Given the description of an element on the screen output the (x, y) to click on. 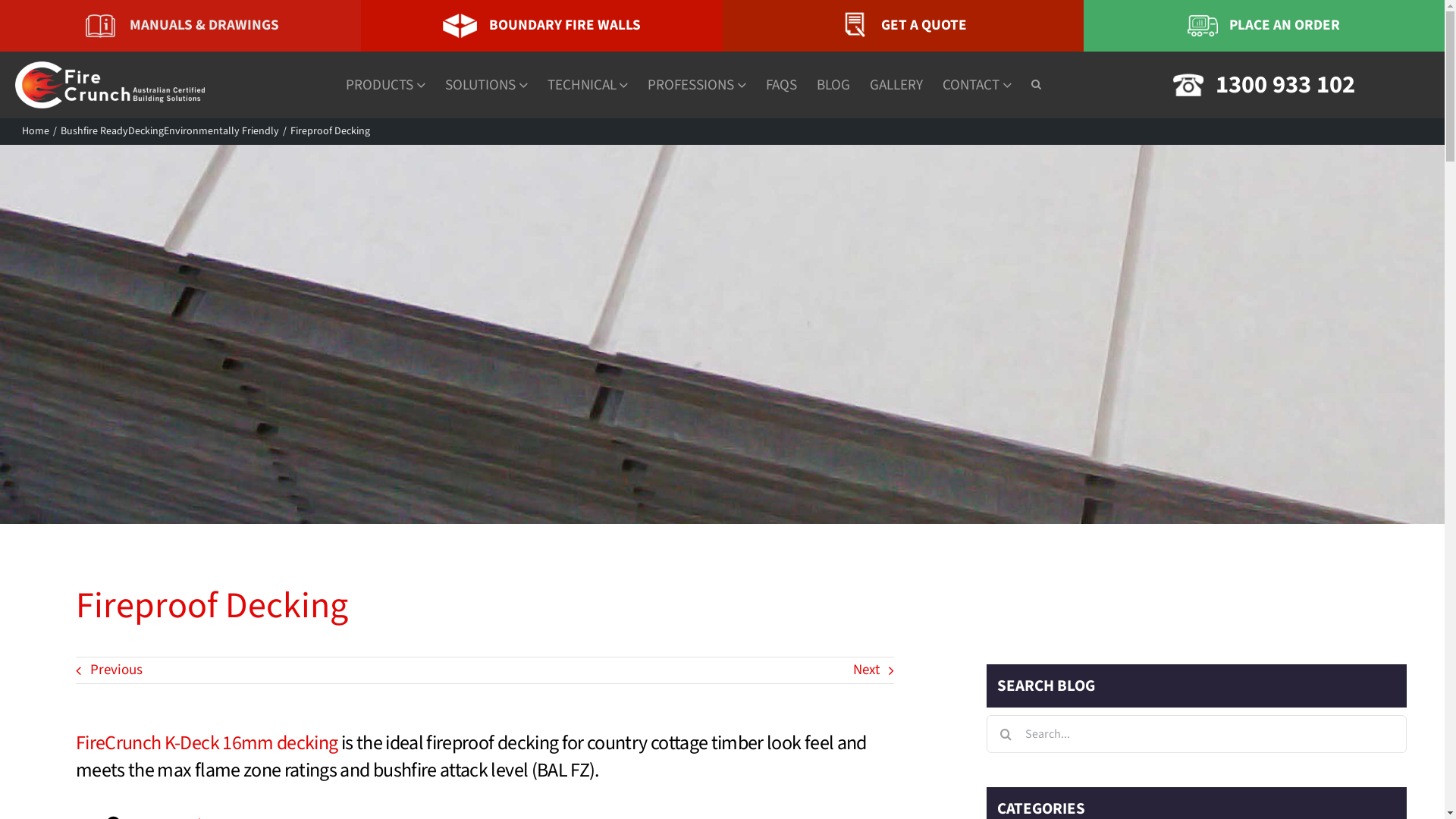
order-icon-47 Element type: hover (1202, 25)
BLOG Element type: text (833, 85)
fix-f-img4 Element type: hover (1188, 84)
Decking Element type: text (145, 130)
FireCrunch K-Deck 16mm decking Element type: text (206, 742)
TECHNICAL Element type: text (587, 85)
SOLUTIONS Element type: text (486, 85)
fix-f-img5 Element type: hover (854, 25)
CONTACT Element type: text (976, 85)
Previous Element type: text (108, 669)
Search Element type: hover (1036, 85)
PRODUCTS Element type: text (385, 85)
Environmentally Friendly Element type: text (221, 130)
1300 933 102 Element type: text (1285, 84)
FAQS Element type: text (781, 85)
Bushfire Ready Element type: text (94, 130)
fix-f-img1 Element type: hover (100, 25)
Next Element type: text (873, 669)
GALLERY Element type: text (895, 85)
Home Element type: text (35, 130)
PROFESSIONS Element type: text (696, 85)
fix-f-img3 Element type: hover (459, 25)
